Given the description of an element on the screen output the (x, y) to click on. 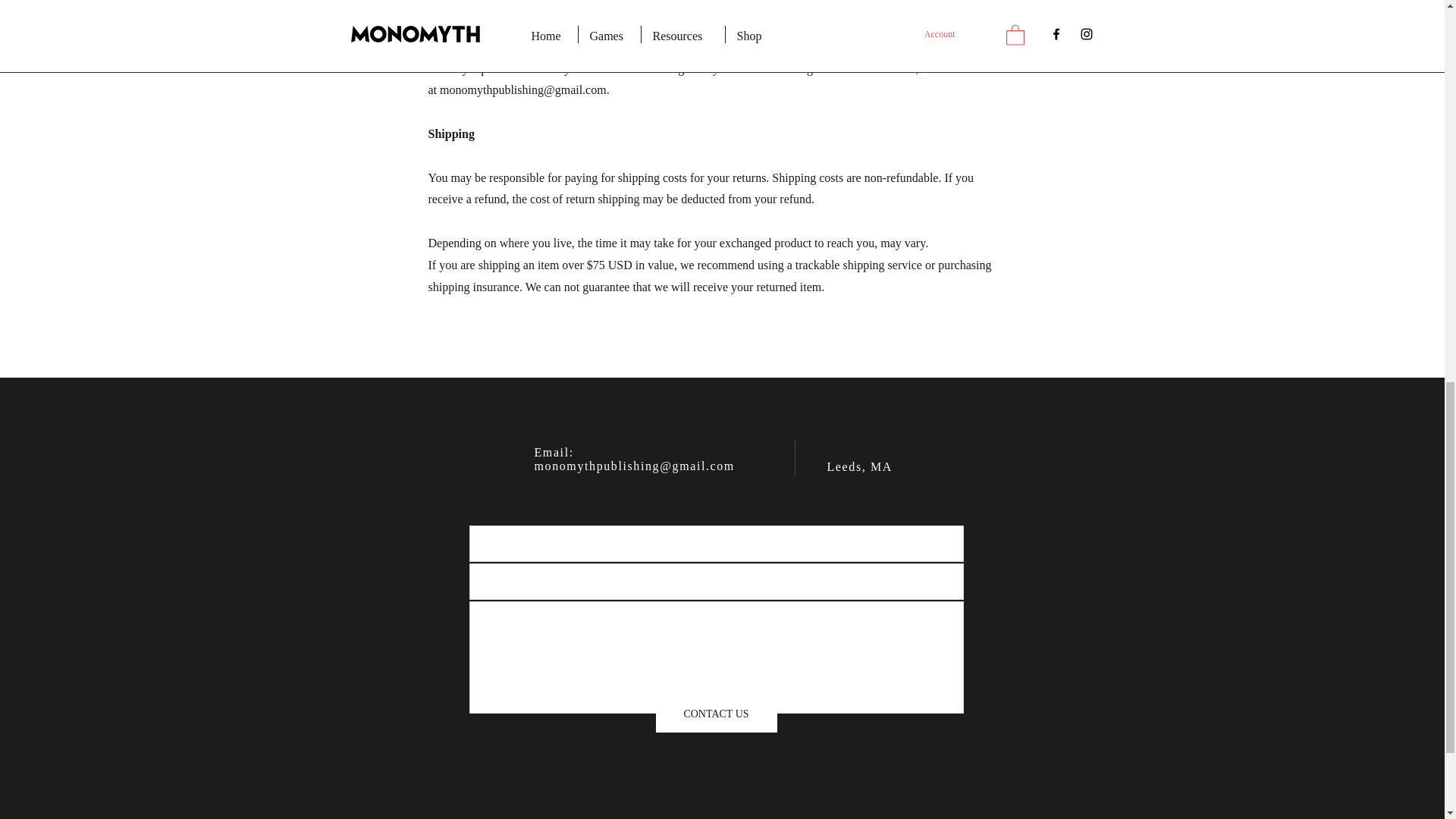
CONTACT US (715, 713)
